Given the description of an element on the screen output the (x, y) to click on. 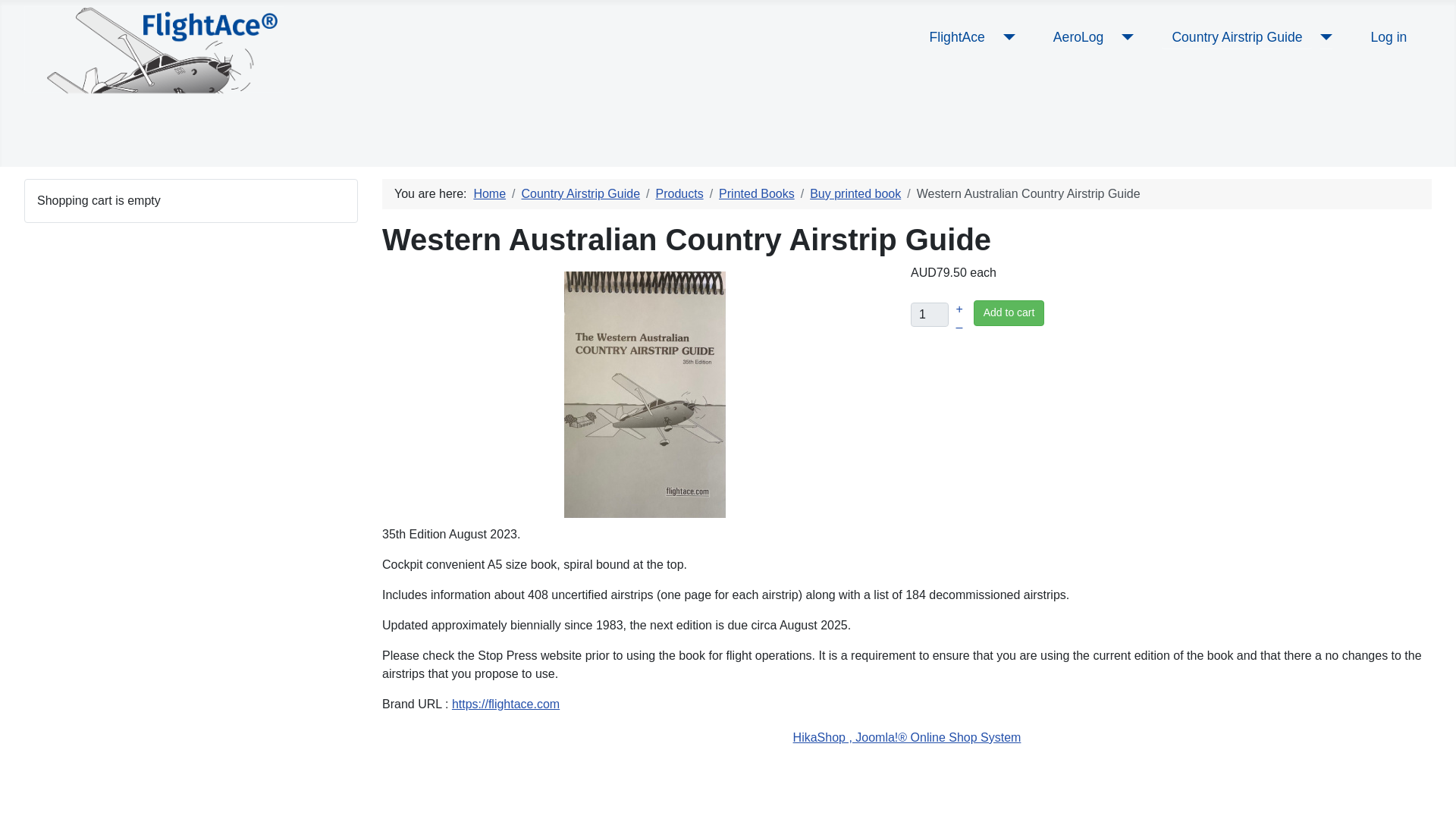
Log in (1388, 37)
FlightAce (956, 37)
1 (930, 314)
Western Australian Country Airstrip Guide (644, 392)
Western Australian Country Airstrip Guide (644, 394)
Country Airstrip Guide (1236, 37)
AeroLog (1078, 37)
